Given the description of an element on the screen output the (x, y) to click on. 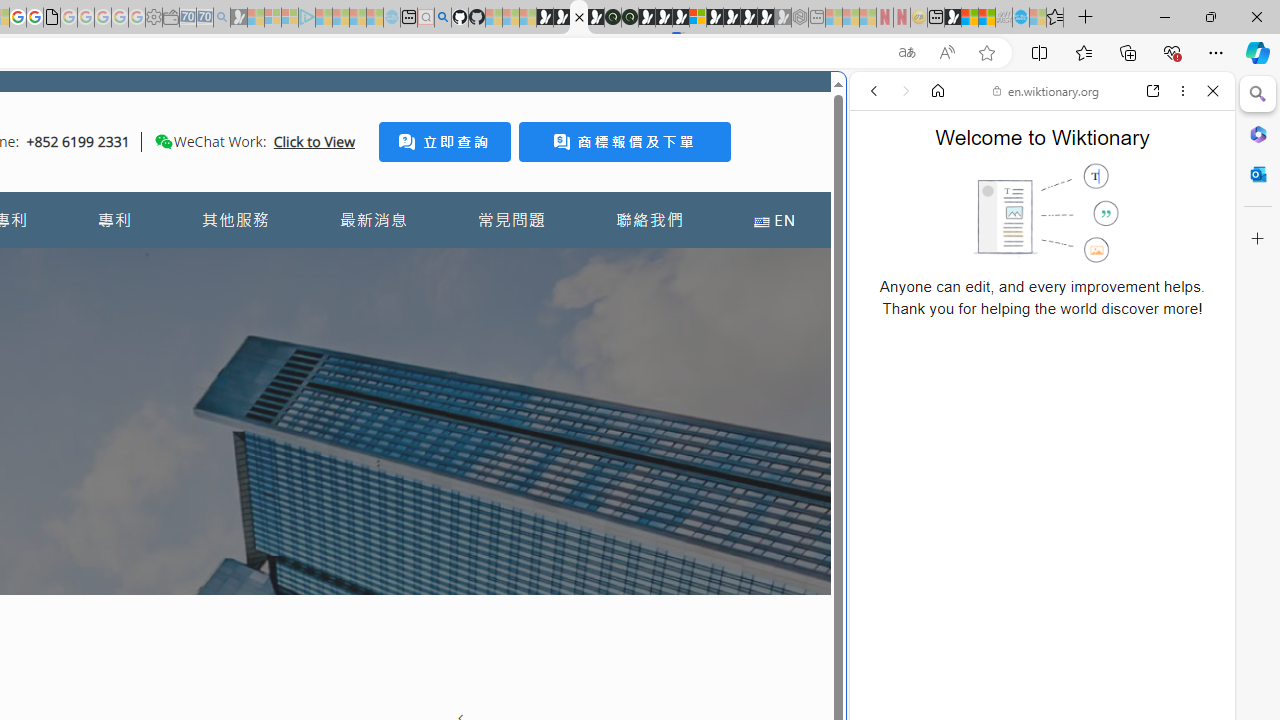
Tabs you've opened (276, 265)
Class: desktop (163, 141)
EN (774, 220)
